Given the description of an element on the screen output the (x, y) to click on. 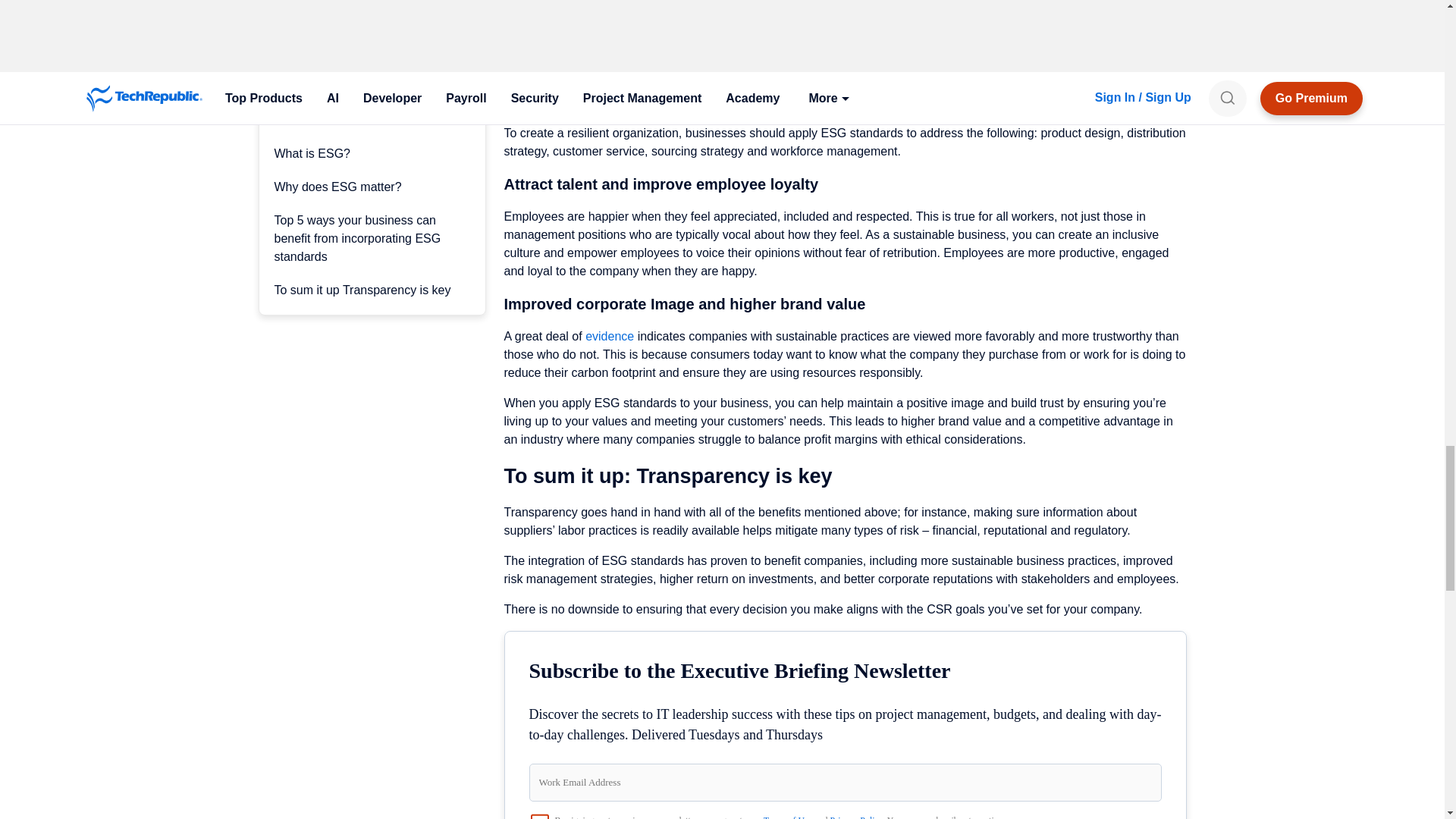
on (539, 816)
